Given the description of an element on the screen output the (x, y) to click on. 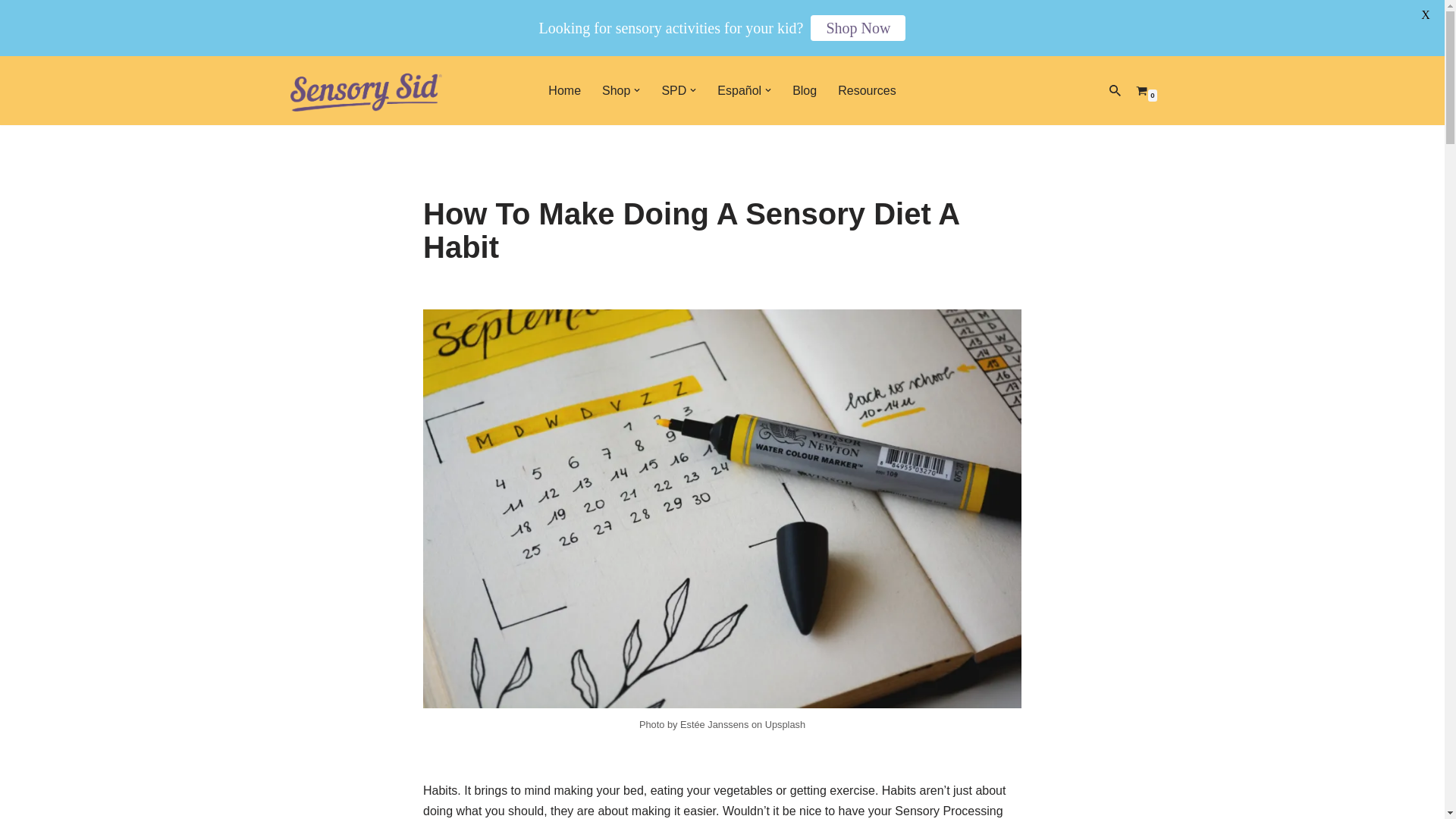
Skip to content (11, 87)
Home (564, 90)
Blog (804, 90)
Shop (616, 90)
Resources (866, 90)
SPD (673, 90)
0 (1141, 90)
